Given the description of an element on the screen output the (x, y) to click on. 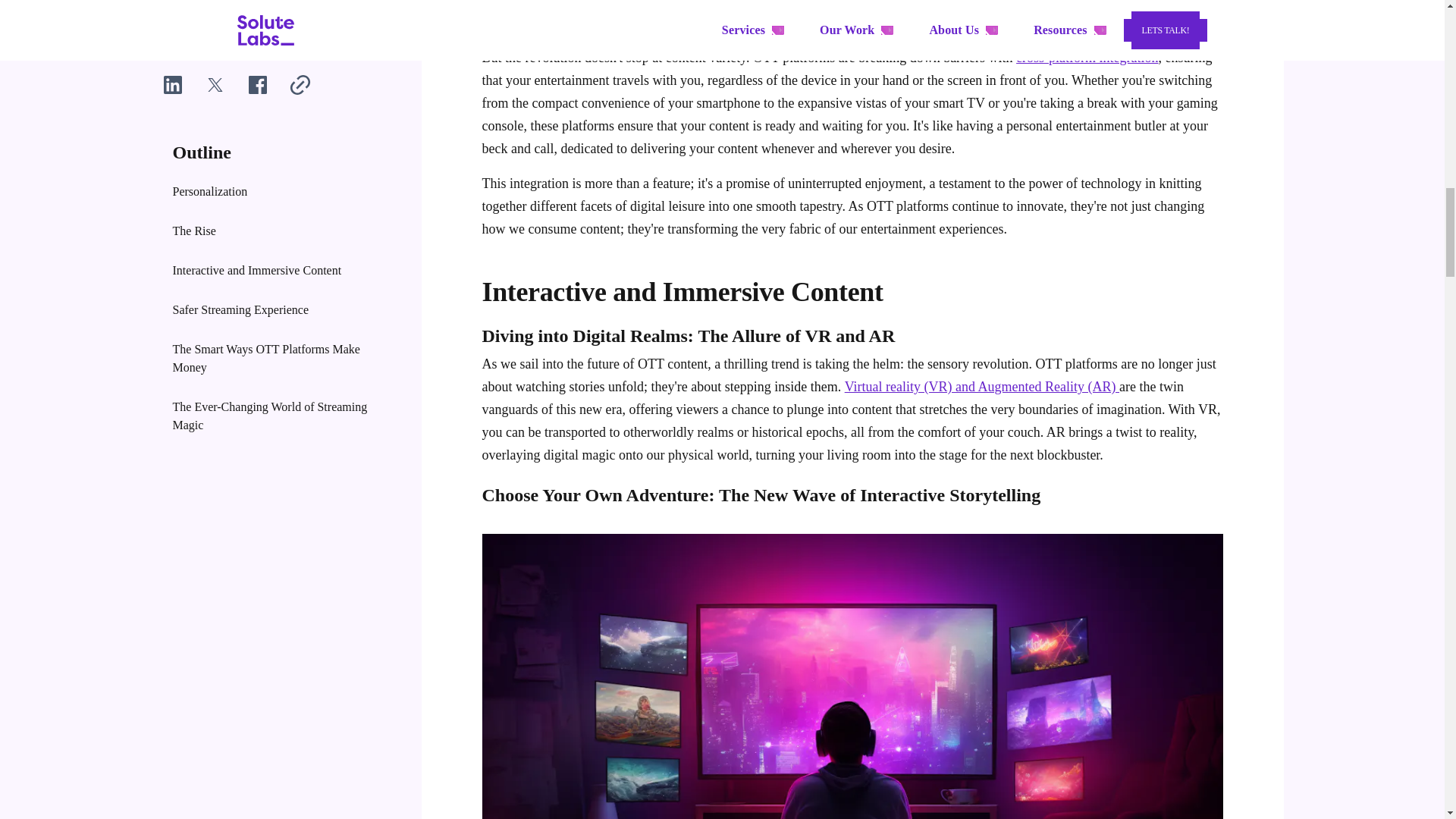
cross-platform integration (1086, 57)
